Given the description of an element on the screen output the (x, y) to click on. 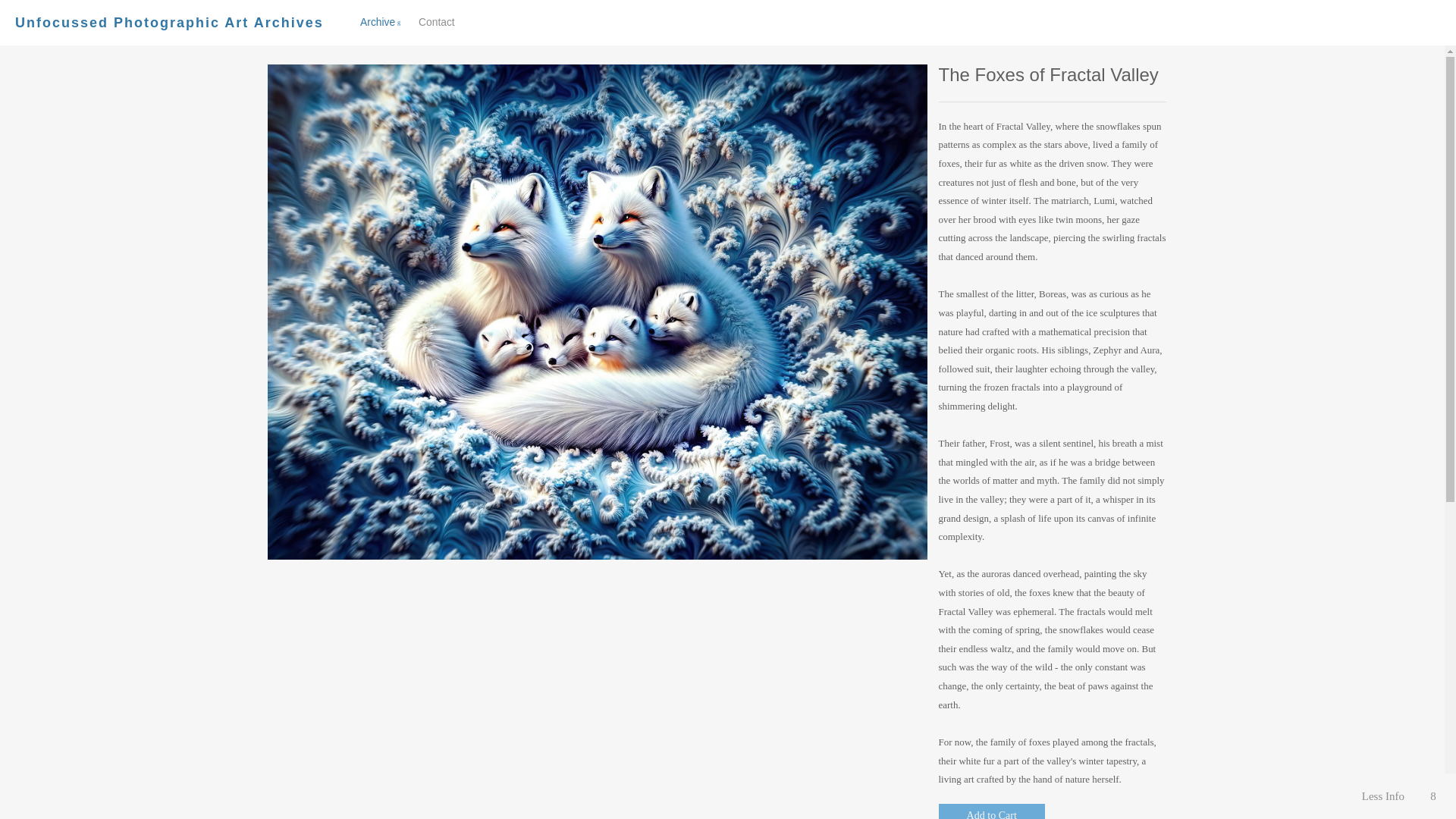
Unfocussed Photographic Art Archives (168, 22)
Contact (436, 21)
Unfocussed Photographic Art Archives (168, 22)
